Given the description of an element on the screen output the (x, y) to click on. 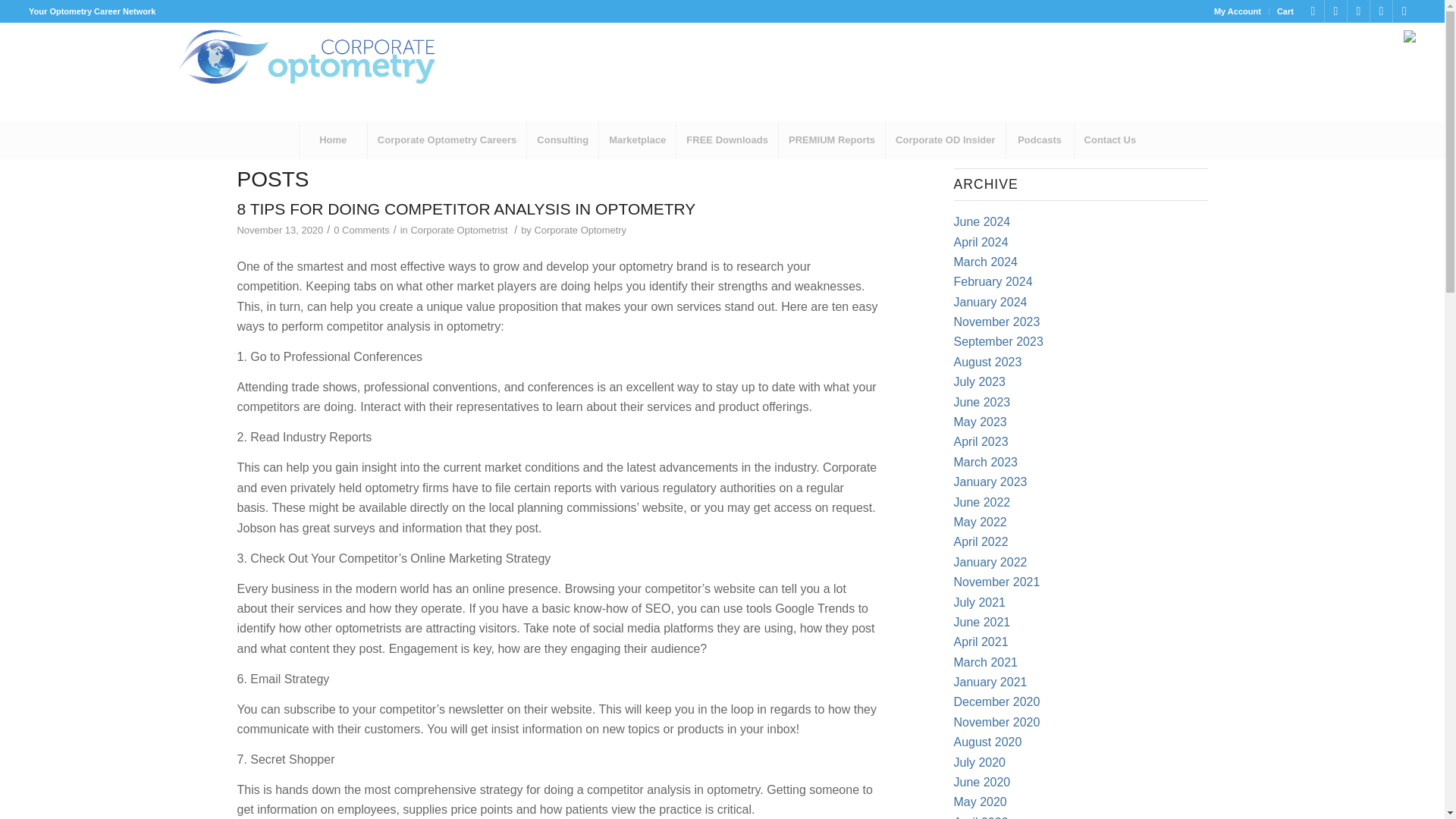
My Account (1237, 11)
June 2023 (981, 401)
January 2024 (990, 301)
November 2023 (997, 321)
FREE Downloads (726, 139)
Corporate Optometrist (458, 229)
Corporate OD Insider (944, 139)
Twitter (1380, 11)
Corporate Optometry Careers (446, 139)
Corporate Optometry (580, 229)
February 2024 (992, 281)
Facebook (1312, 11)
8 TIPS FOR DOING COMPETITOR ANALYSIS IN OPTOMETRY (465, 208)
Consulting (561, 139)
Facebook (1335, 11)
